Given the description of an element on the screen output the (x, y) to click on. 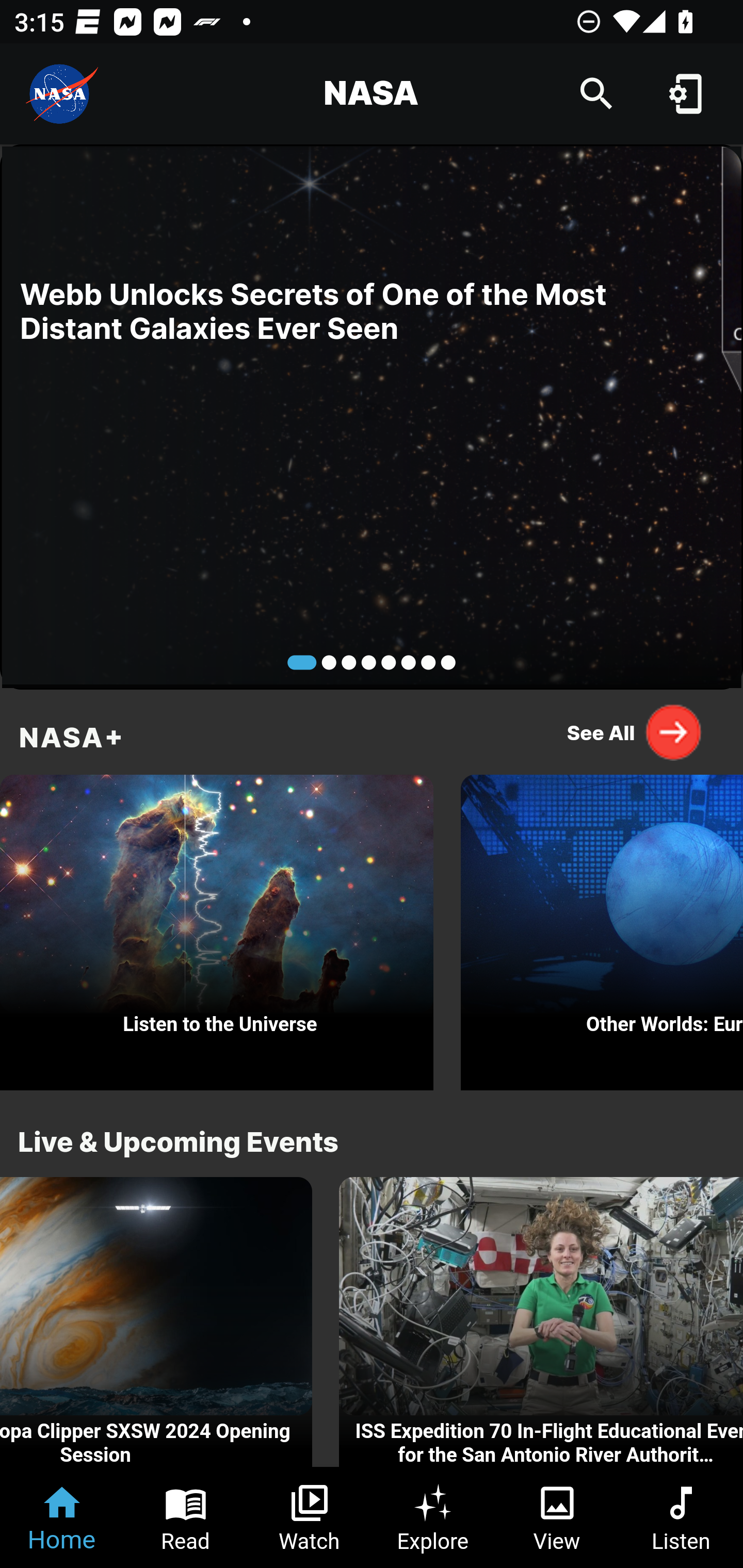
See All (634, 732)
Listen to the Universe (216, 927)
Other Worlds: Europa (601, 927)
NASA's Europa Clipper SXSW 2024 Opening Session (156, 1322)
Home
Tab 1 of 6 (62, 1517)
Read
Tab 2 of 6 (185, 1517)
Watch
Tab 3 of 6 (309, 1517)
Explore
Tab 4 of 6 (433, 1517)
View
Tab 5 of 6 (556, 1517)
Listen
Tab 6 of 6 (680, 1517)
